Given the description of an element on the screen output the (x, y) to click on. 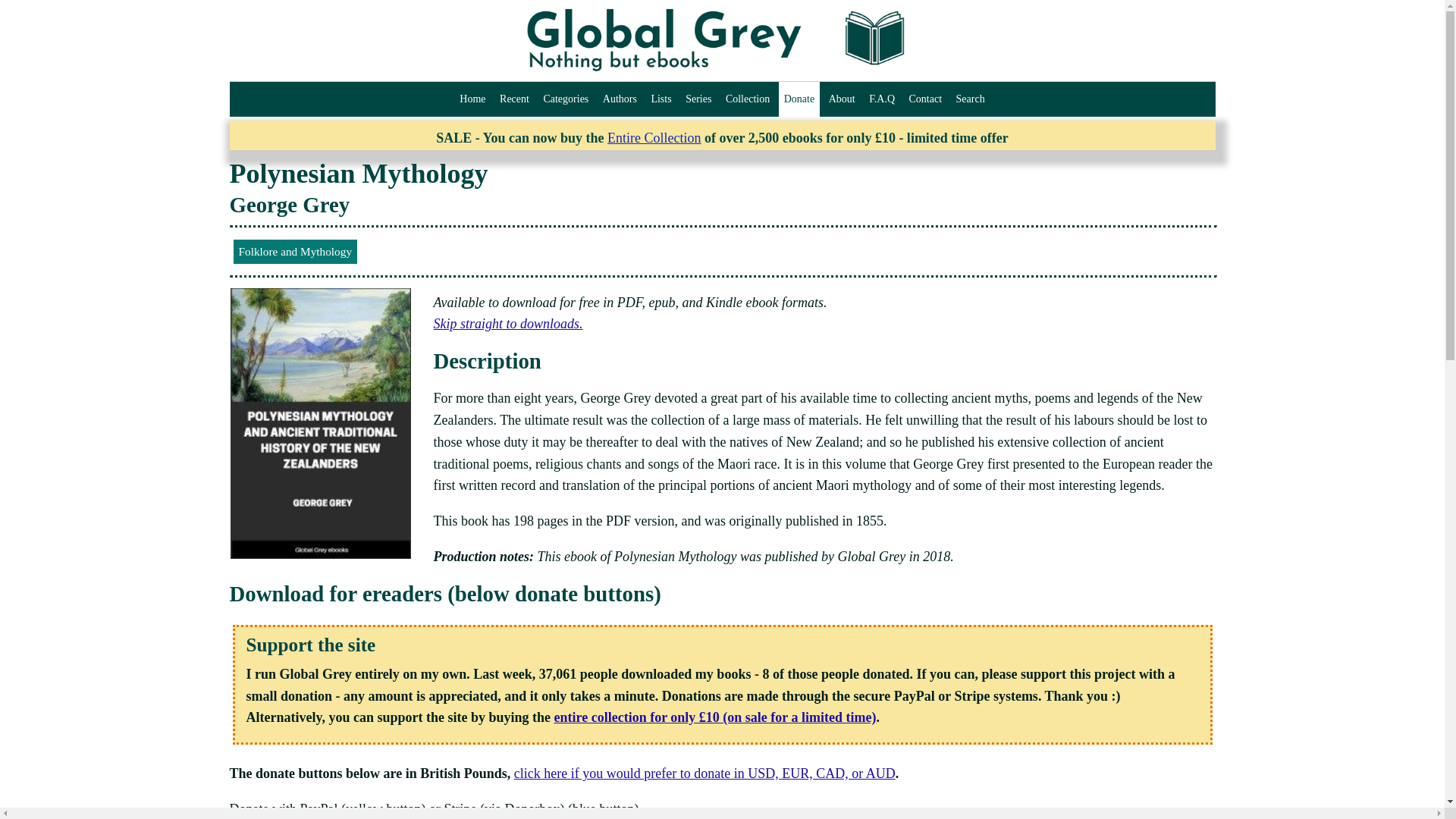
Home (472, 99)
Home (472, 99)
Lists (661, 99)
F.A.Q (881, 99)
Recently Added (514, 99)
Recent (514, 99)
Series (697, 99)
Collection (747, 99)
Lists (661, 99)
